Given the description of an element on the screen output the (x, y) to click on. 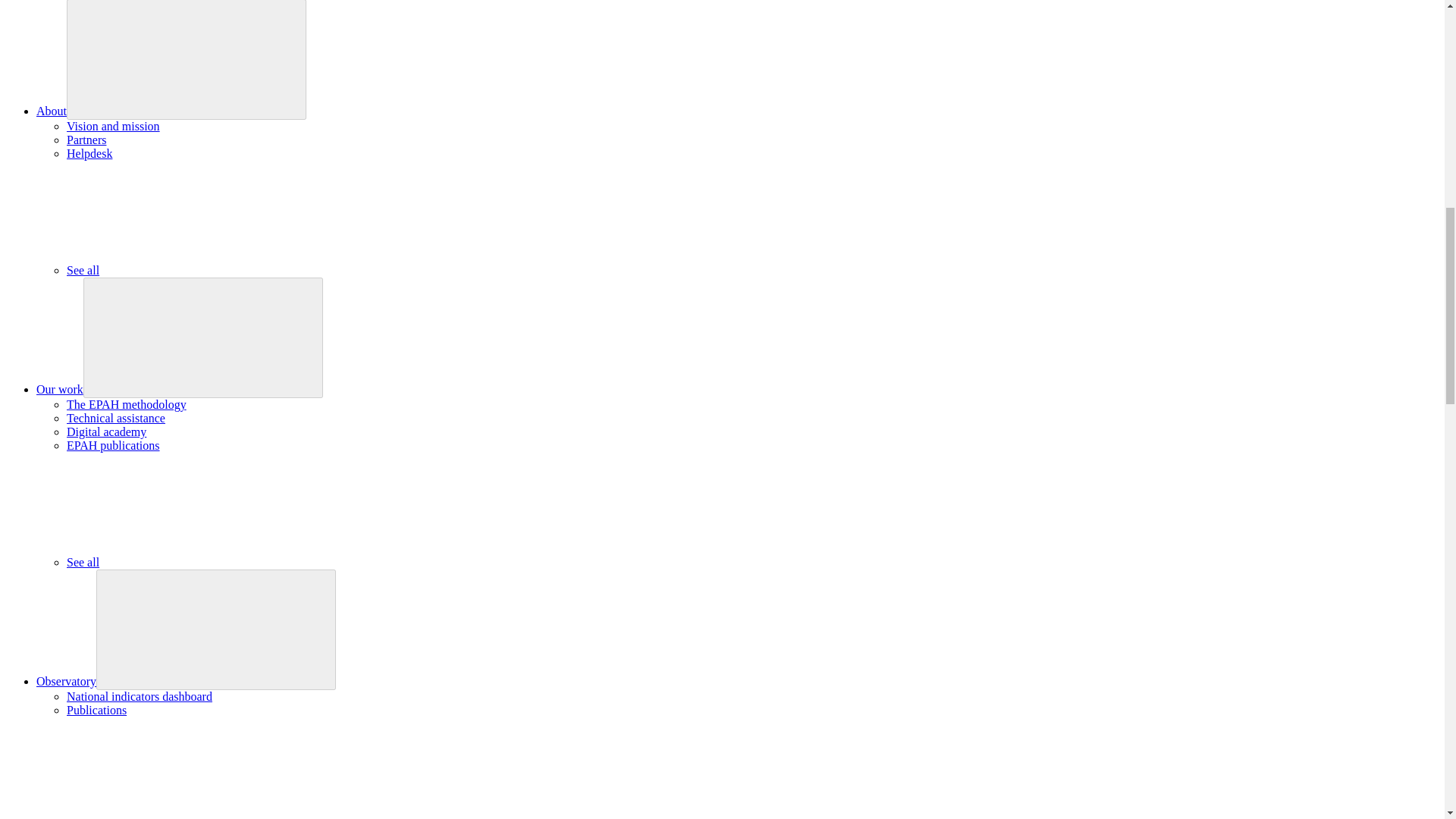
Vision and mission (113, 125)
National indicators dashboard (139, 696)
EPAH publications (113, 445)
Our work (59, 389)
Partners (86, 139)
Technical assistance (115, 418)
Helpdesk (89, 153)
See all (196, 269)
See all (196, 562)
Observatory (66, 680)
Digital academy (106, 431)
Publications (96, 709)
About (51, 110)
The EPAH methodology (126, 404)
